Given the description of an element on the screen output the (x, y) to click on. 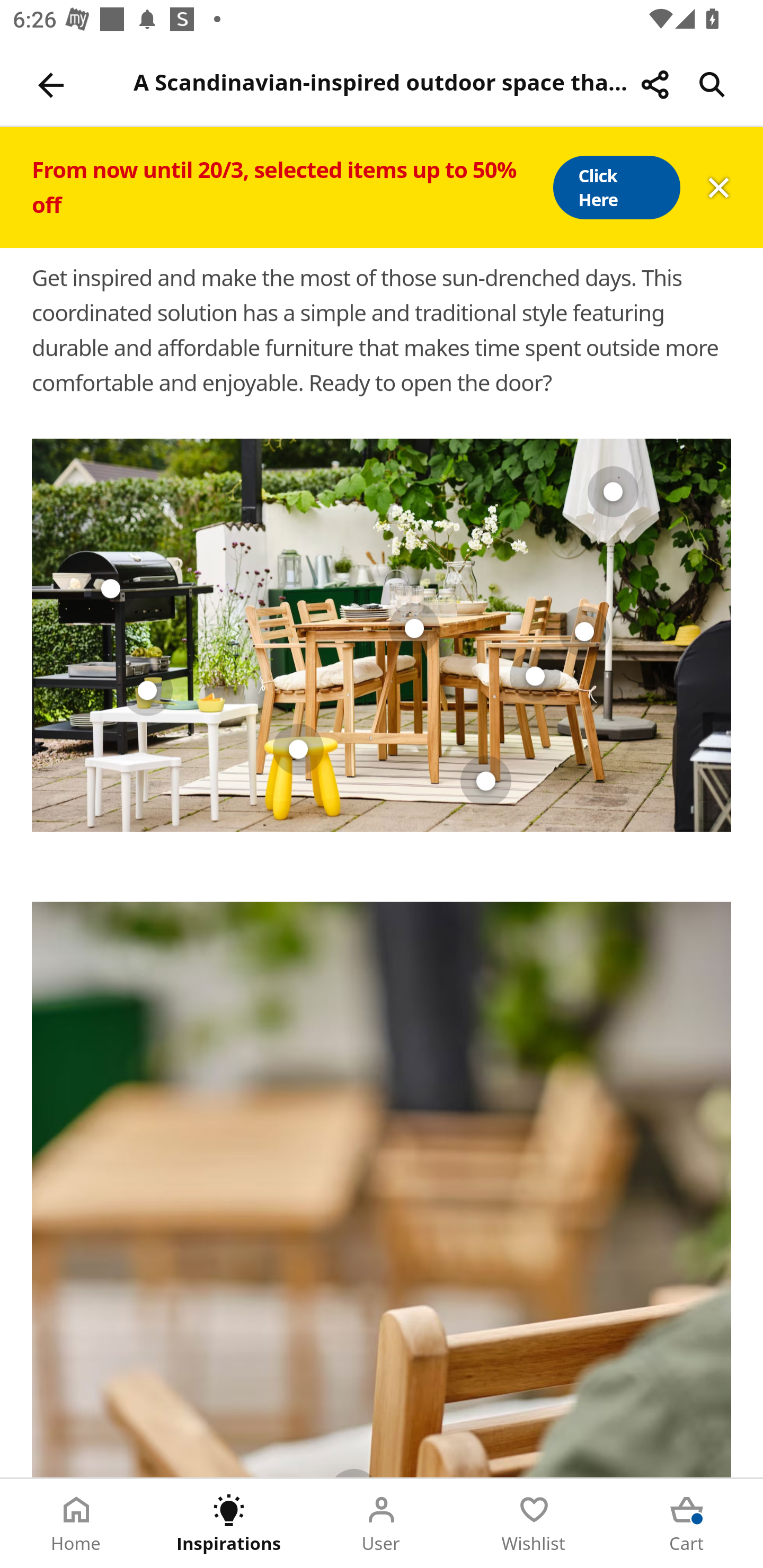
Click Here (615, 187)
Home
Tab 1 of 5 (76, 1522)
Inspirations
Tab 2 of 5 (228, 1522)
User
Tab 3 of 5 (381, 1522)
Wishlist
Tab 4 of 5 (533, 1522)
Cart
Tab 5 of 5 (686, 1522)
